Given the description of an element on the screen output the (x, y) to click on. 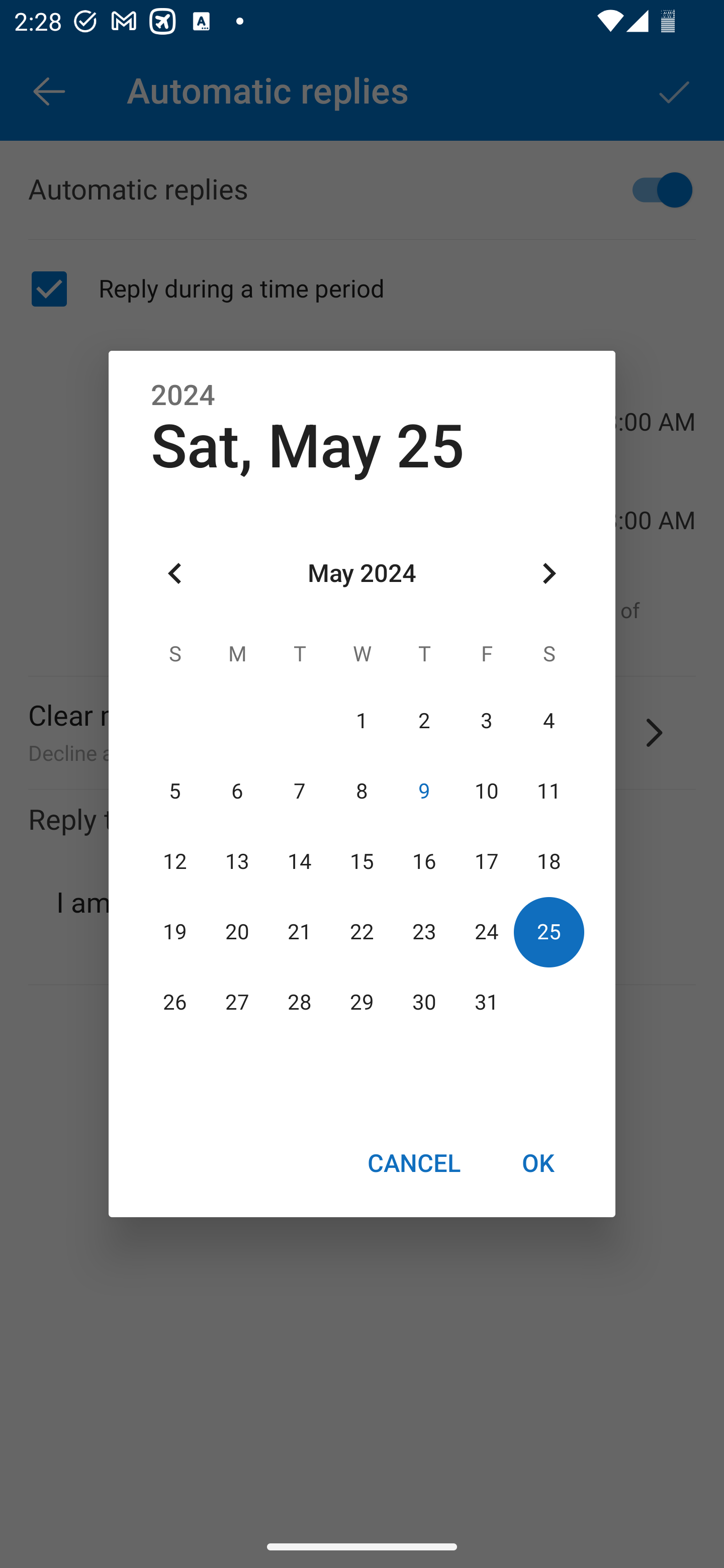
2024 (182, 395)
Sat, May 25 (307, 446)
Previous month (174, 573)
Next month (548, 573)
1 01 May 2024 (361, 720)
2 02 May 2024 (424, 720)
3 03 May 2024 (486, 720)
4 04 May 2024 (548, 720)
5 05 May 2024 (175, 790)
6 06 May 2024 (237, 790)
7 07 May 2024 (299, 790)
8 08 May 2024 (361, 790)
9 09 May 2024 (424, 790)
10 10 May 2024 (486, 790)
11 11 May 2024 (548, 790)
12 12 May 2024 (175, 861)
13 13 May 2024 (237, 861)
14 14 May 2024 (299, 861)
15 15 May 2024 (361, 861)
16 16 May 2024 (424, 861)
17 17 May 2024 (486, 861)
18 18 May 2024 (548, 861)
19 19 May 2024 (175, 931)
20 20 May 2024 (237, 931)
21 21 May 2024 (299, 931)
22 22 May 2024 (361, 931)
23 23 May 2024 (424, 931)
24 24 May 2024 (486, 931)
25 25 May 2024 (548, 931)
26 26 May 2024 (175, 1002)
27 27 May 2024 (237, 1002)
28 28 May 2024 (299, 1002)
29 29 May 2024 (361, 1002)
30 30 May 2024 (424, 1002)
31 31 May 2024 (486, 1002)
CANCEL (413, 1162)
OK (537, 1162)
